Given the description of an element on the screen output the (x, y) to click on. 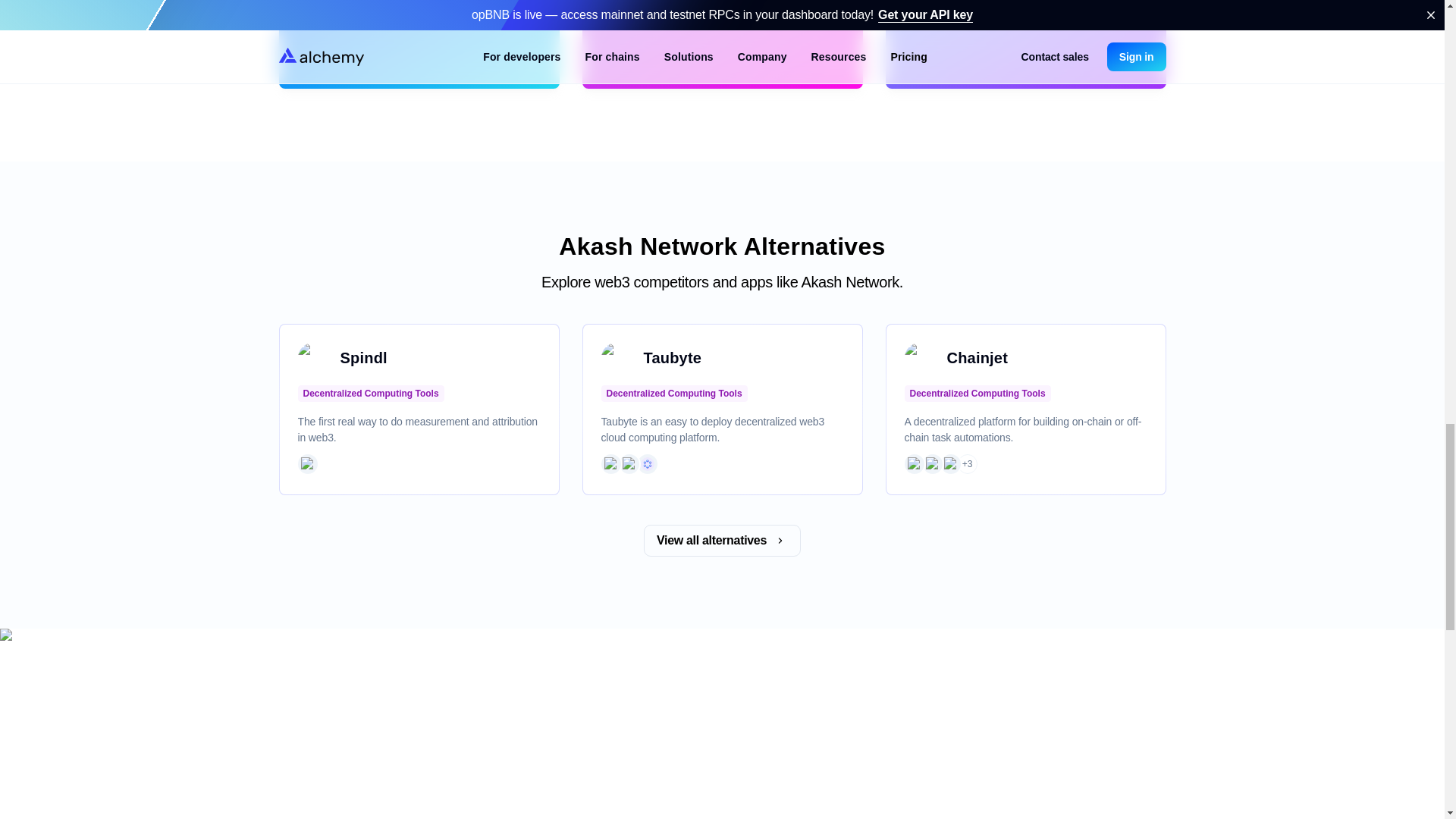
Ethereum (306, 463)
Ethereum (610, 463)
Polygon (627, 463)
Multichain (646, 463)
Polygon (931, 463)
Avalanche (949, 463)
Ethereum (913, 463)
